Given the description of an element on the screen output the (x, y) to click on. 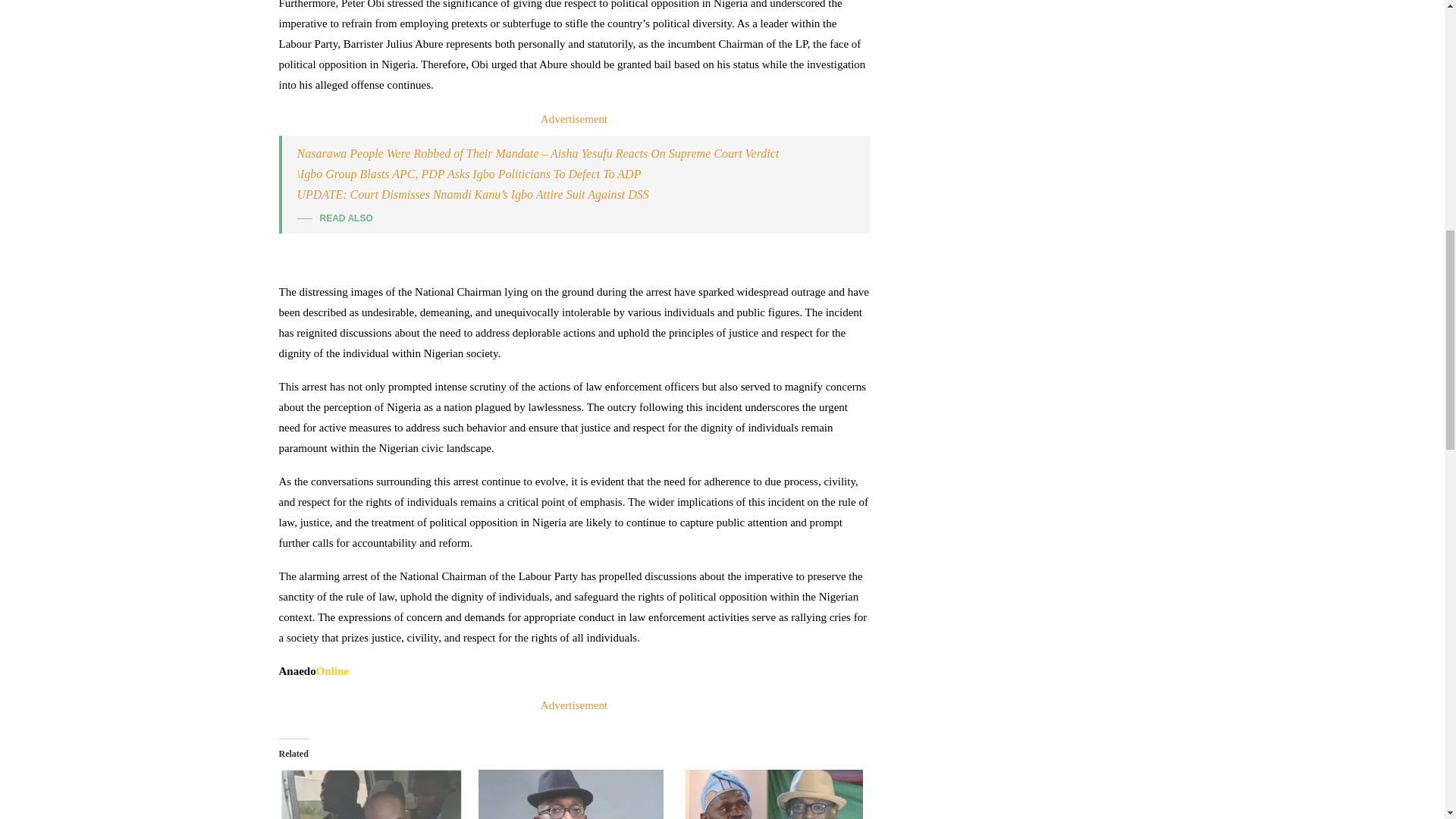
Edo State Police Arrest Labour Party National Chairman (371, 794)
